Given the description of an element on the screen output the (x, y) to click on. 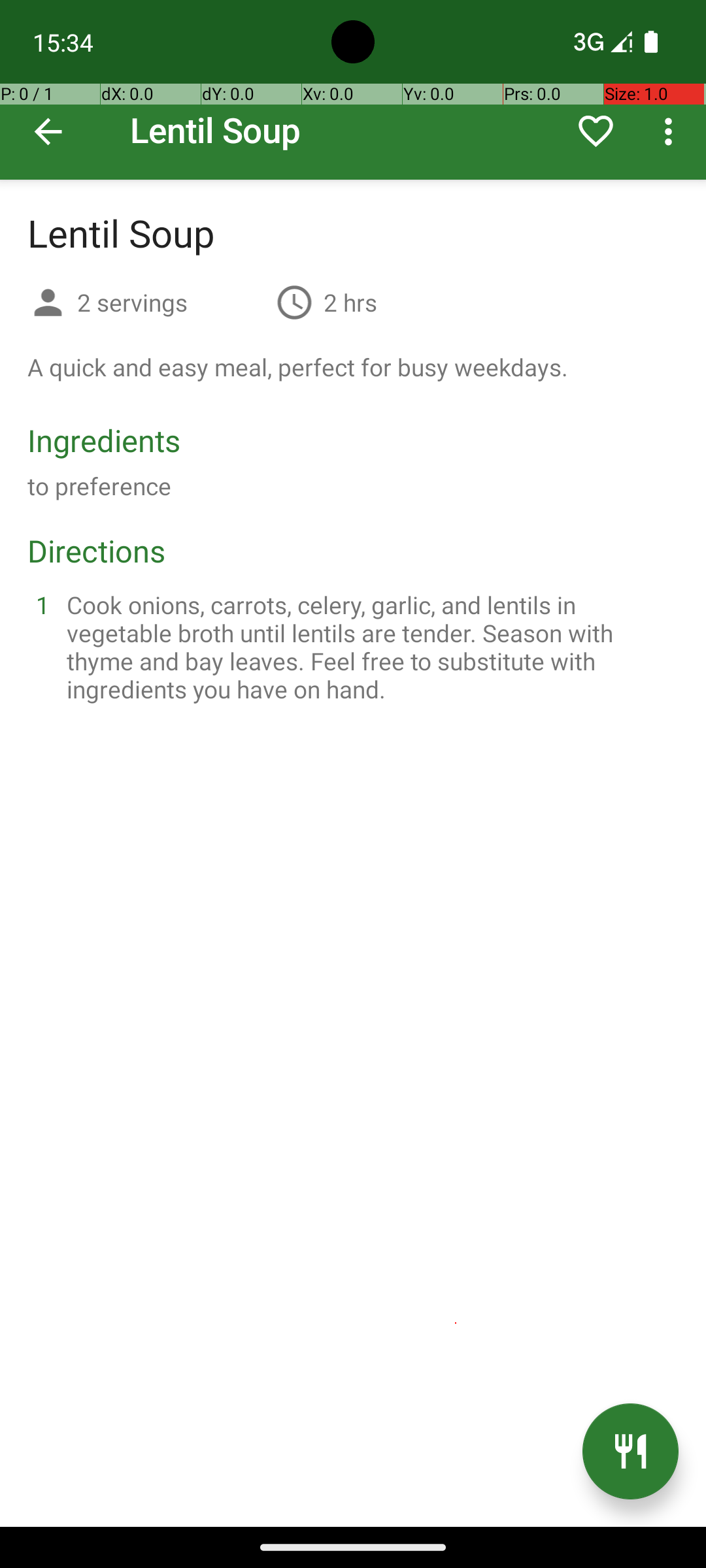
Lentil Soup Element type: android.widget.FrameLayout (353, 89)
2 servings Element type: android.widget.TextView (170, 301)
2 hrs Element type: android.widget.TextView (350, 301)
to preference Element type: android.widget.TextView (99, 485)
Cook onions, carrots, celery, garlic, and lentils in vegetable broth until lentils are tender. Season with thyme and bay leaves. Feel free to substitute with ingredients you have on hand. Element type: android.widget.TextView (368, 646)
